Given the description of an element on the screen output the (x, y) to click on. 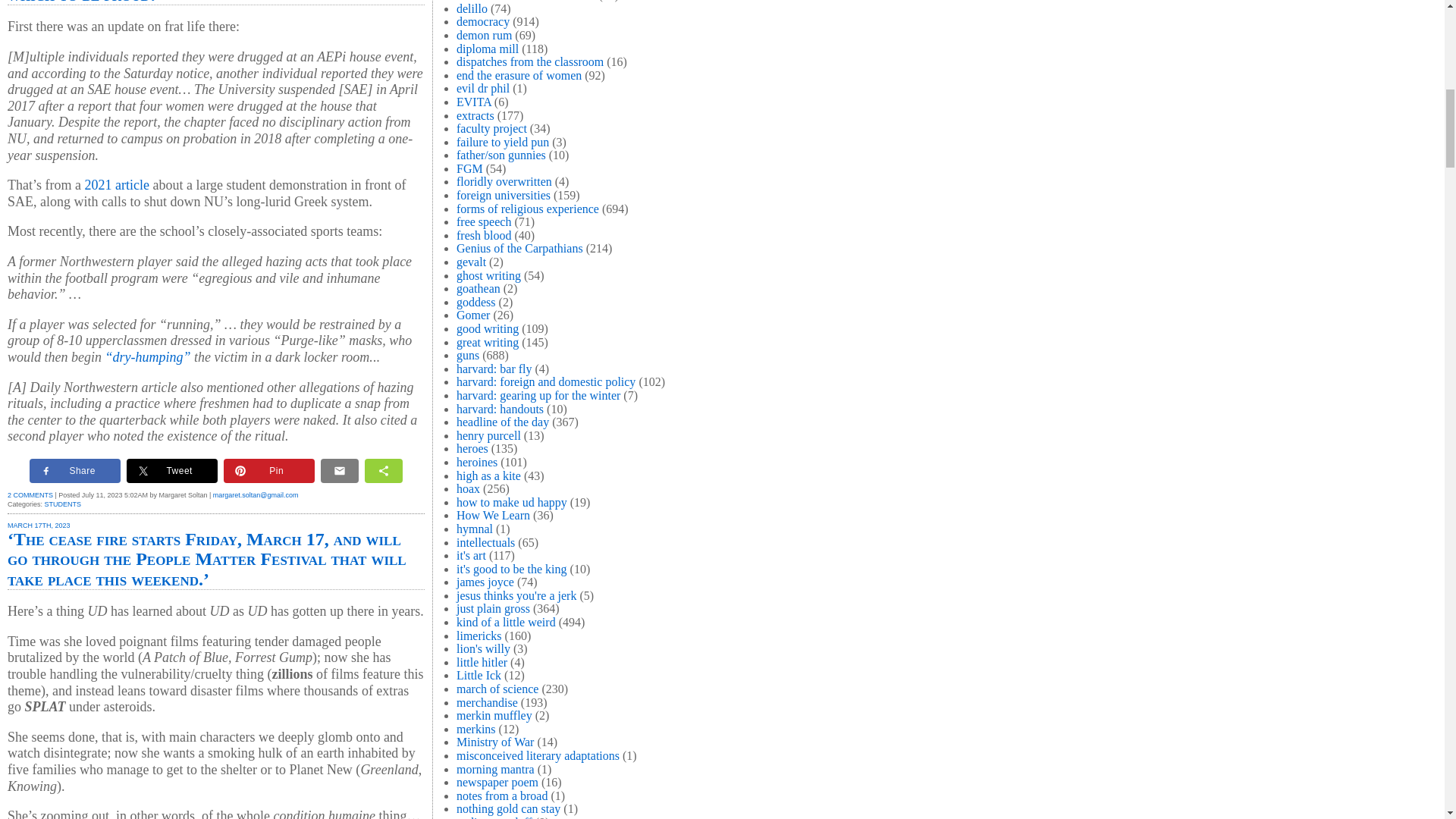
2 COMMENTS (29, 494)
2021 article (116, 184)
STUDENTS (63, 503)
MARCH 17TH, 2023 (38, 525)
